Given the description of an element on the screen output the (x, y) to click on. 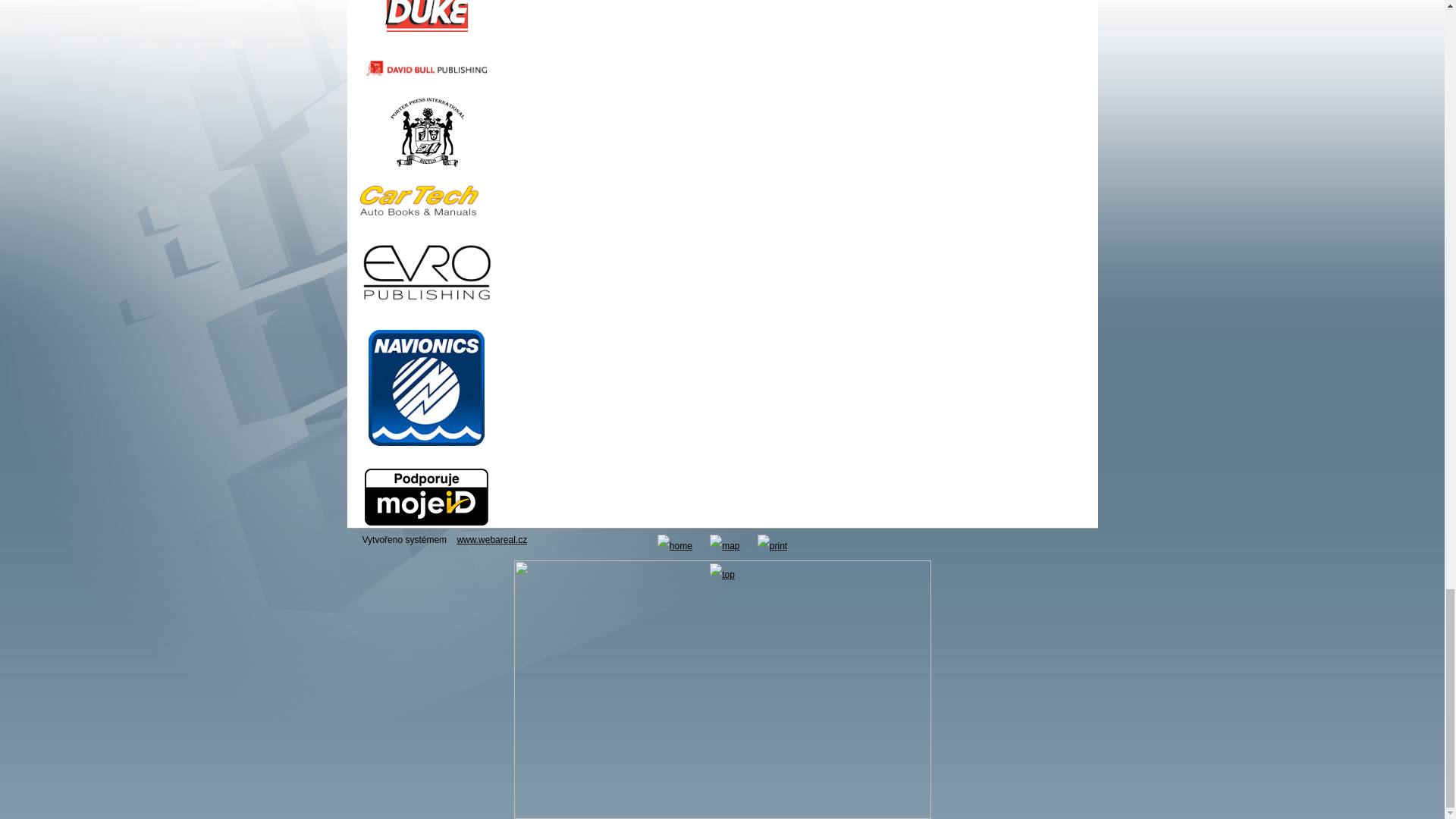
Podporuje mojeID (426, 497)
